Given the description of an element on the screen output the (x, y) to click on. 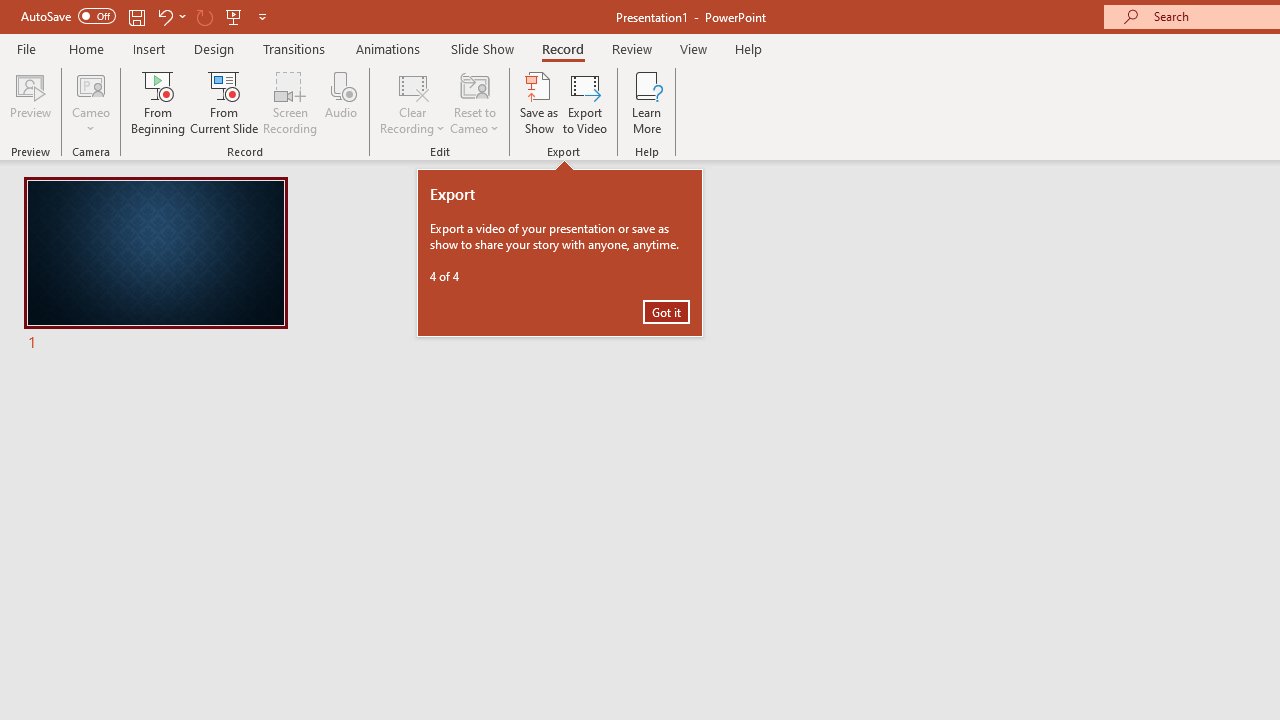
More Options (91, 121)
Help (748, 48)
Transitions (294, 48)
Save as Show (539, 102)
Insert (149, 48)
Learn More (646, 102)
Record (562, 48)
Cameo (91, 102)
Slide Show (481, 48)
Animations (388, 48)
Preview (30, 102)
View (693, 48)
Review (631, 48)
System (10, 11)
Undo (170, 15)
